Given the description of an element on the screen output the (x, y) to click on. 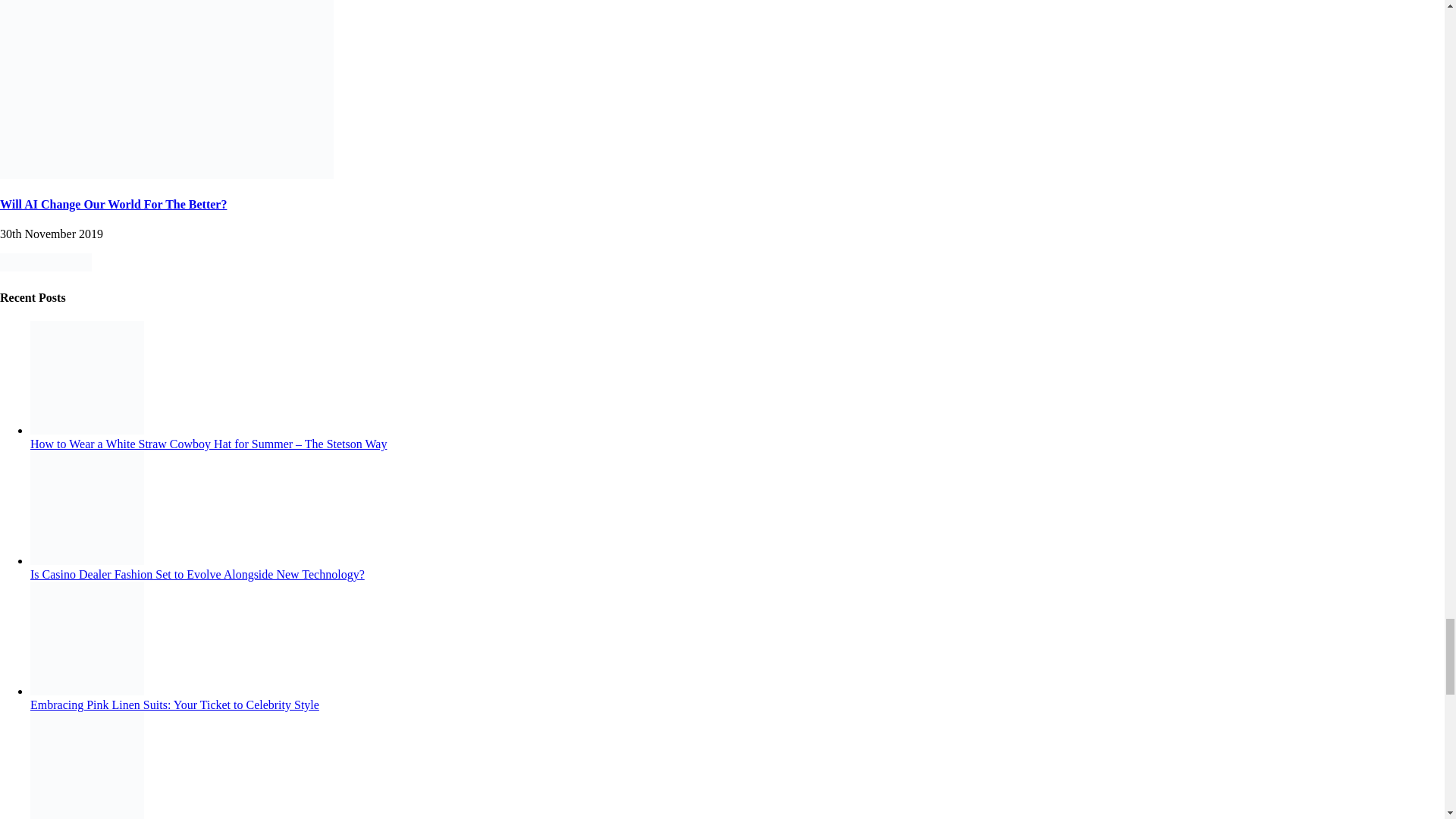
Embracing Pink Linen Suits: Your Ticket to Celebrity Style (87, 690)
Will AI Change Our World For The Better? (166, 174)
DMCA.com Protection Status (45, 267)
